Given the description of an element on the screen output the (x, y) to click on. 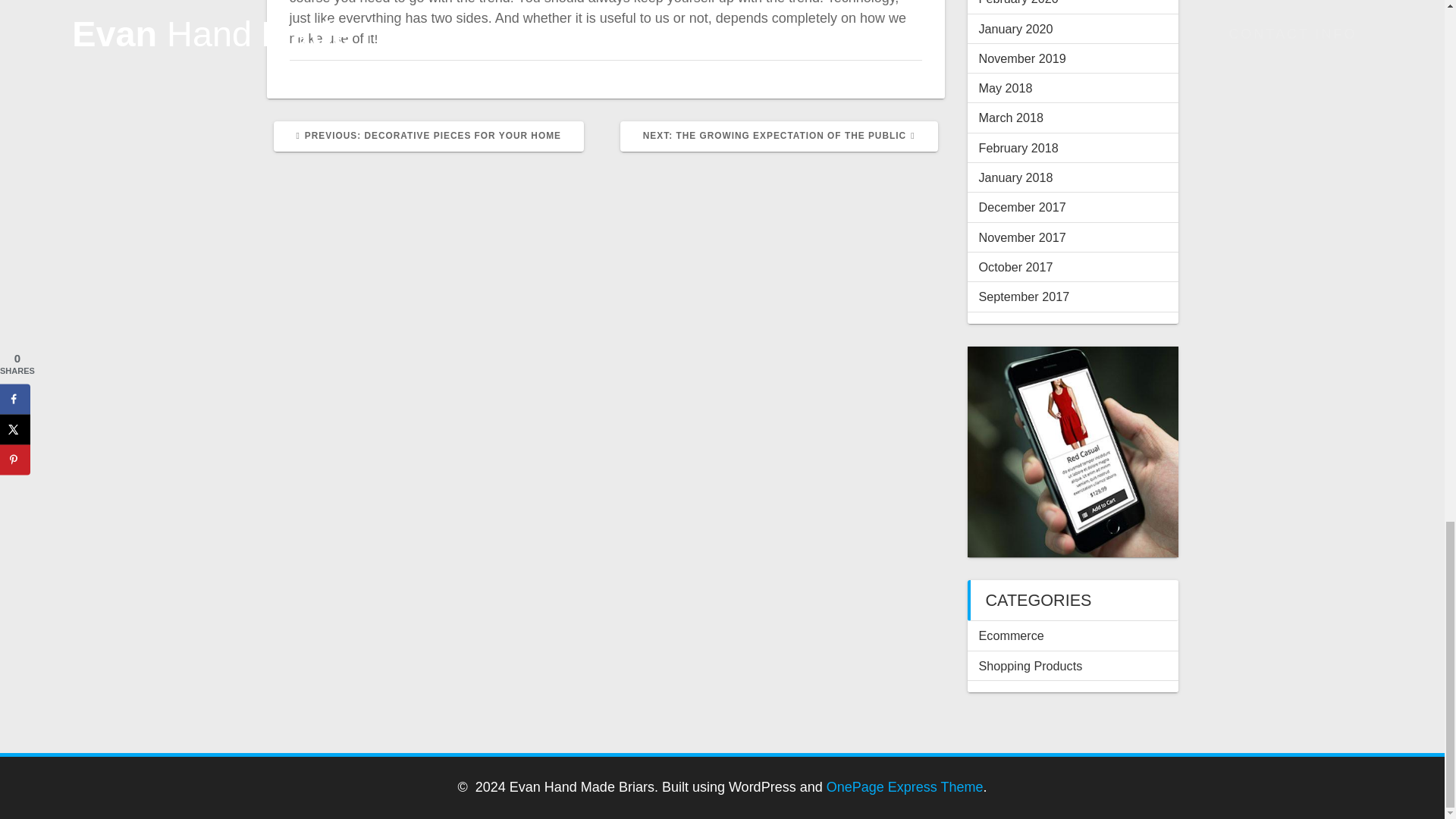
Ecommerce (1010, 635)
October 2017 (1015, 266)
Shopping Products (1029, 665)
OnePage Express Theme (905, 786)
January 2020 (1015, 29)
May 2018 (1005, 88)
Ecommerce (1010, 635)
September 2017 (1023, 296)
February 2020 (1018, 2)
February 2018 (1018, 147)
November 2019 (428, 135)
March 2018 (778, 135)
January 2018 (1021, 58)
